Given the description of an element on the screen output the (x, y) to click on. 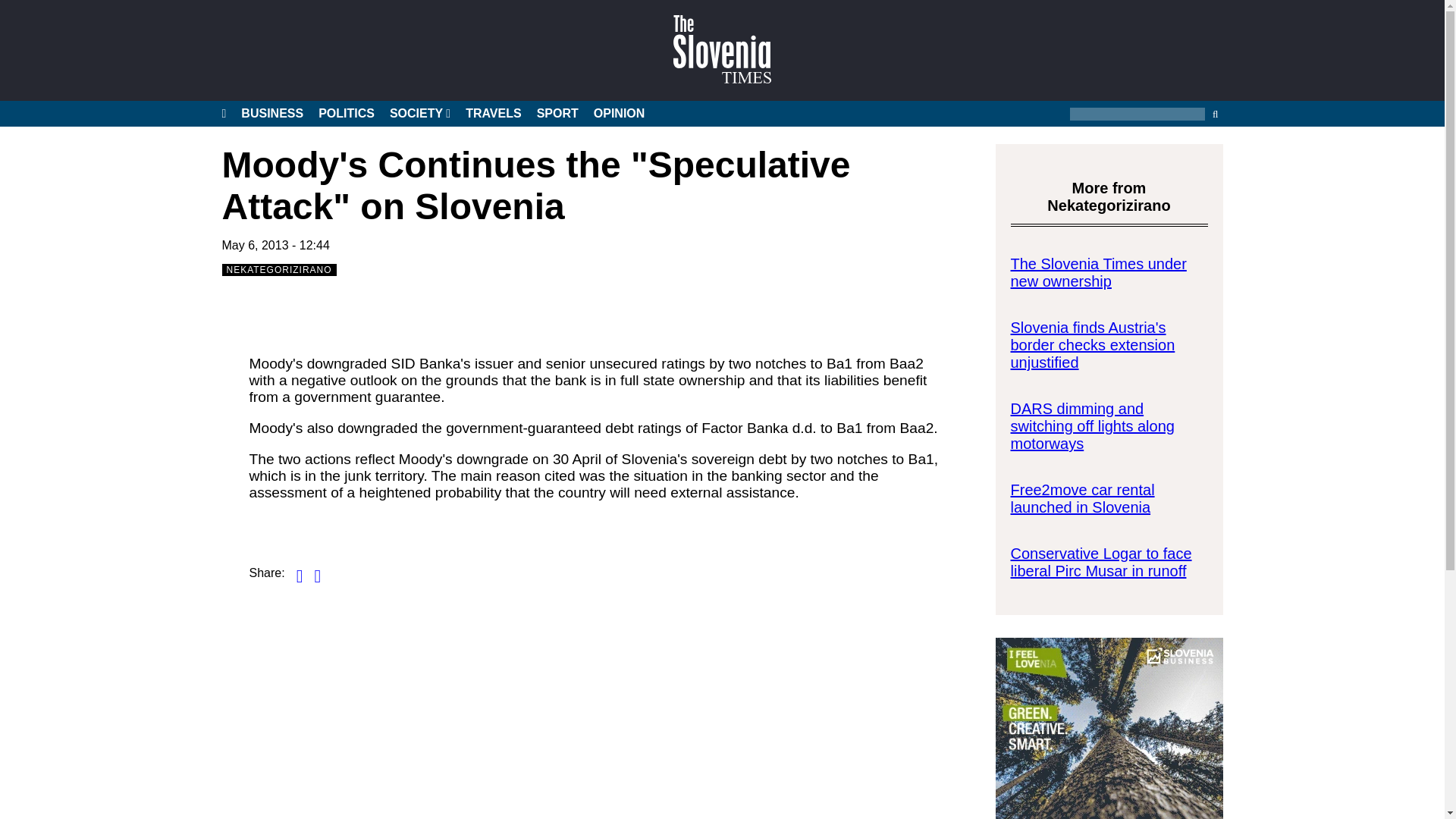
Slovenia finds Austria's border checks extension unjustified (1092, 345)
BUSINESS (271, 113)
SPORT (557, 113)
DARS dimming and switching off lights along motorways (1091, 426)
Free2move car rental launched in Slovenia (1082, 498)
The Slovenia Times under new ownership (1098, 272)
TRAVELS (493, 113)
POLITICS (346, 113)
OPINION (619, 113)
Conservative Logar to face liberal Pirc Musar in runoff (1100, 562)
